Given the description of an element on the screen output the (x, y) to click on. 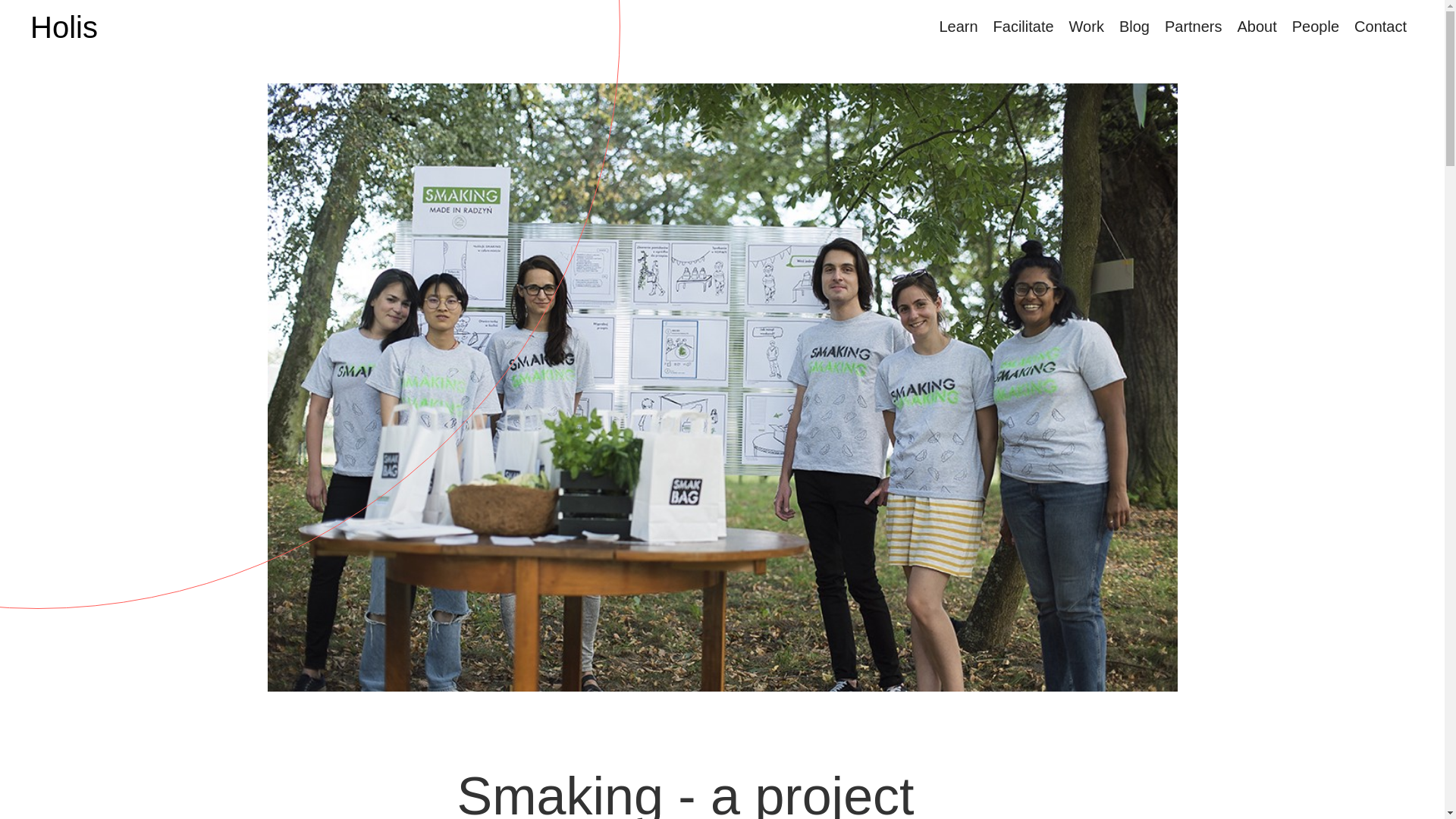
Facilitate (1023, 26)
People (1315, 26)
About (1257, 26)
Partners (1193, 26)
Learn (958, 26)
Work (1086, 26)
Holis (63, 27)
Blog (1134, 26)
Contact (1379, 26)
